Given the description of an element on the screen output the (x, y) to click on. 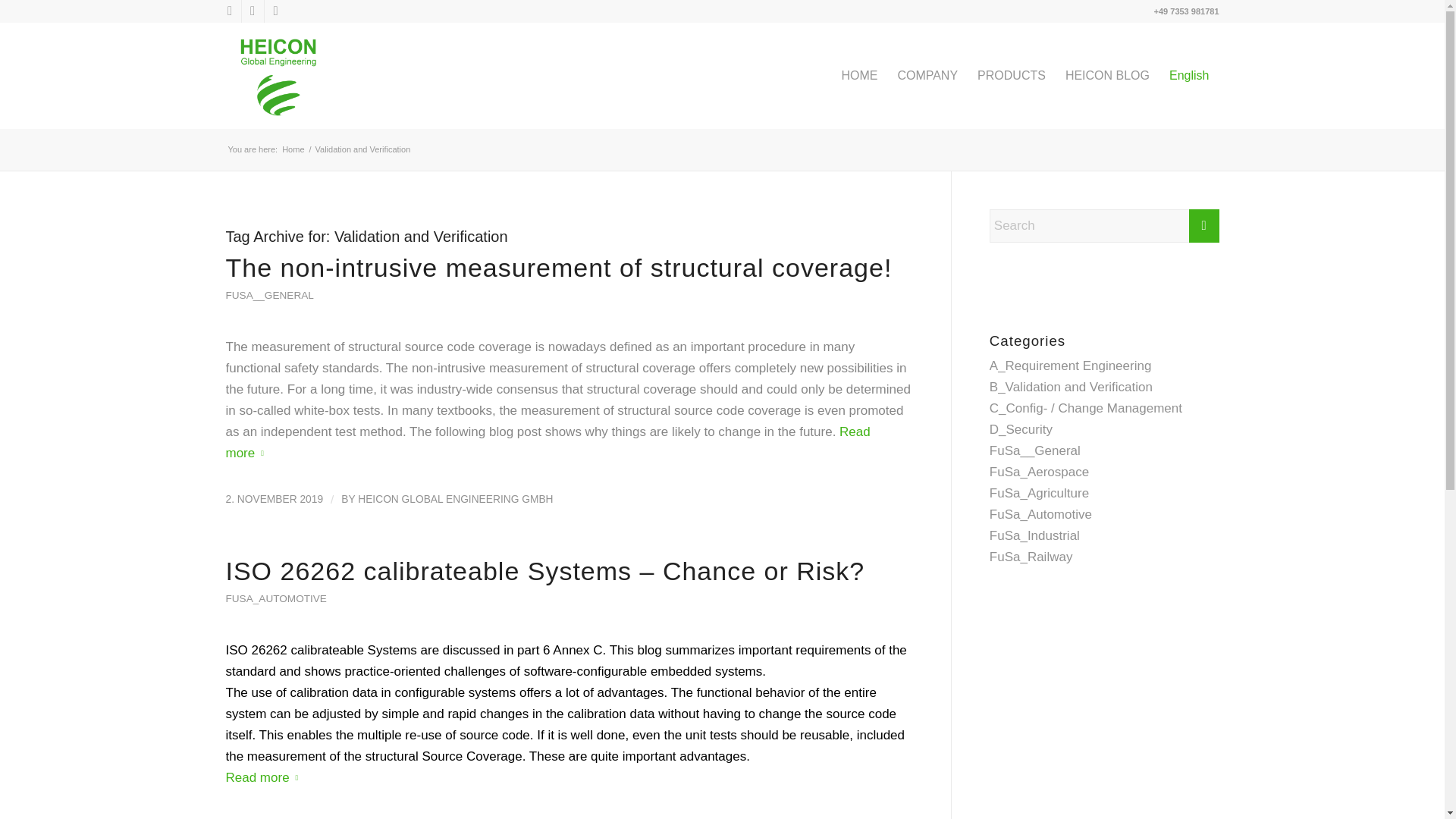
Xing (274, 11)
Posts by HEICON Global Engineering GmbH (455, 499)
HEICON GLOBAL ENGINEERING GMBH (455, 499)
X (229, 11)
0 COMMENTS (352, 818)
Read more (547, 441)
HEICON BLOG (1106, 75)
Heicon Ulm (292, 149)
LinkedIn (252, 11)
The non-intrusive measurement of structural coverage! (558, 267)
Read more (264, 777)
Home (292, 149)
